Given the description of an element on the screen output the (x, y) to click on. 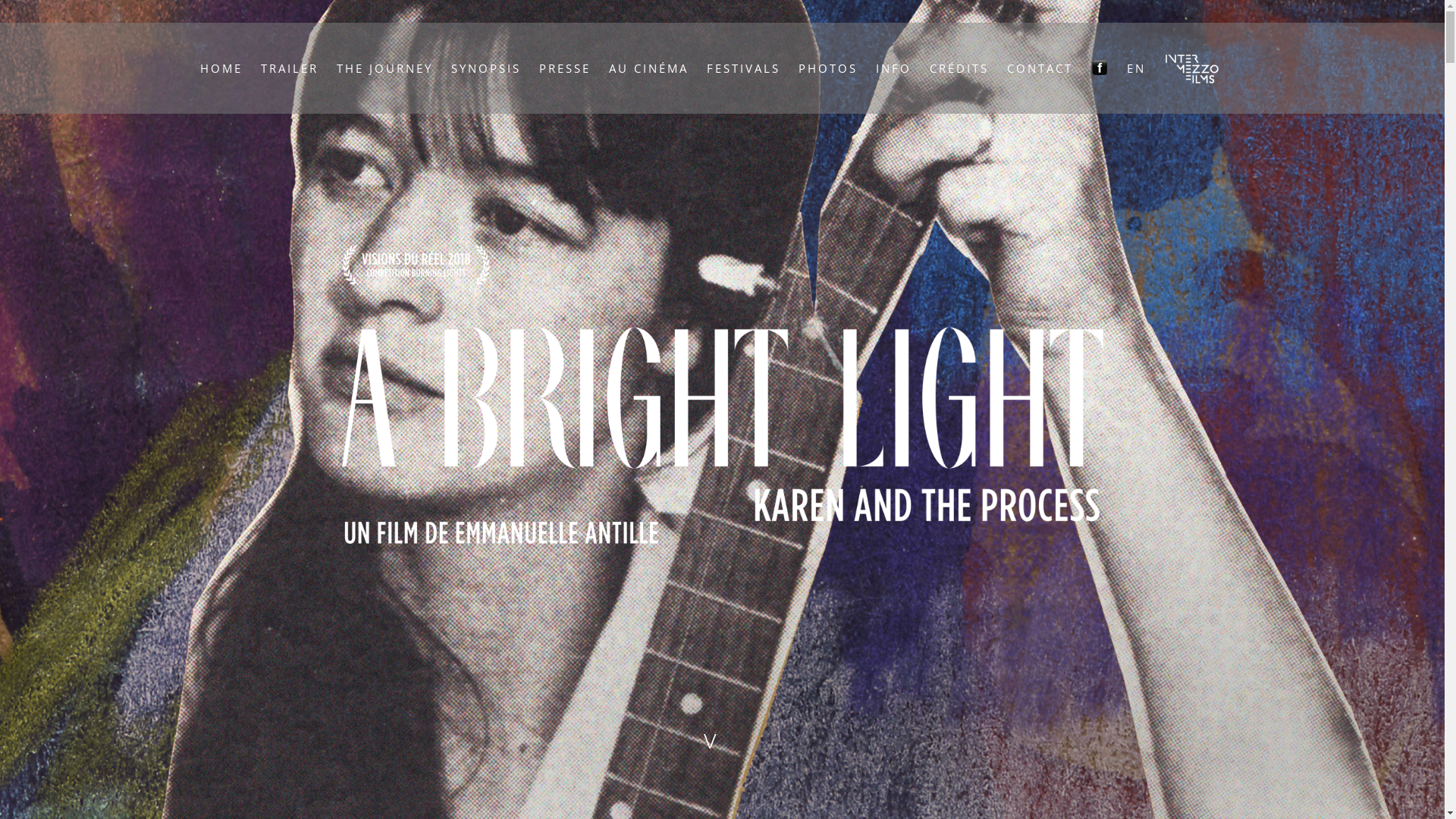
INFO Element type: text (893, 67)
CONTACT Element type: text (1040, 67)
EN Element type: text (1135, 67)
HOME Element type: text (221, 67)
FESTIVALS Element type: text (743, 67)
v Element type: text (722, 738)
SYNOPSIS Element type: text (485, 67)
TRAILER Element type: text (289, 67)
PRESSE Element type: text (564, 67)
THE JOURNEY Element type: text (384, 67)
PHOTOS Element type: text (827, 67)
